Given the description of an element on the screen output the (x, y) to click on. 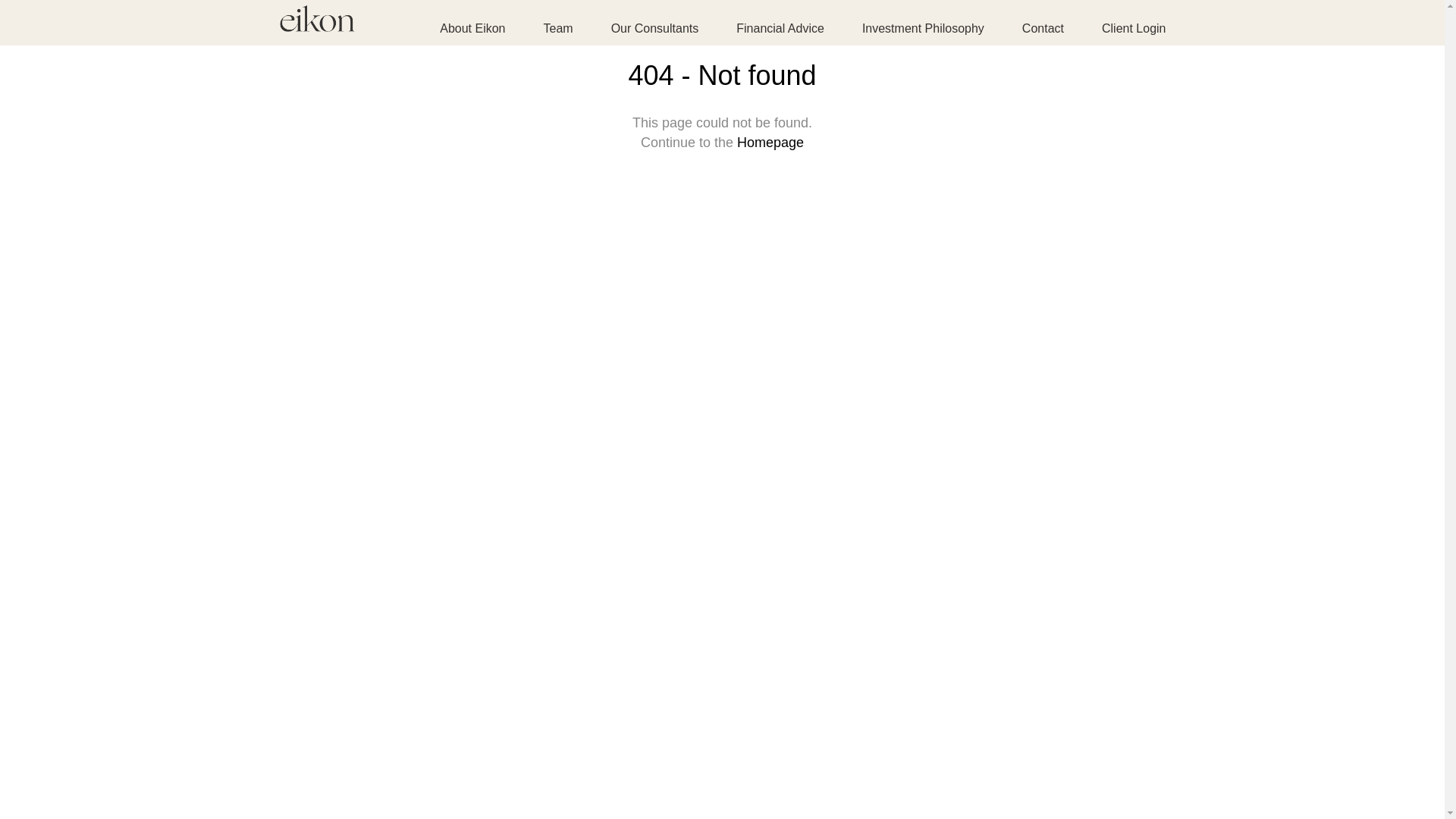
About Eikon Element type: text (481, 27)
Our Consultants Element type: text (655, 27)
Eikon Element type: hover (316, 23)
Investment Philosophy Element type: text (923, 27)
Team Element type: text (558, 27)
Homepage Element type: text (770, 142)
Financial Advice Element type: text (780, 27)
Contact Element type: text (1042, 27)
Client Login Element type: text (1124, 27)
